Given the description of an element on the screen output the (x, y) to click on. 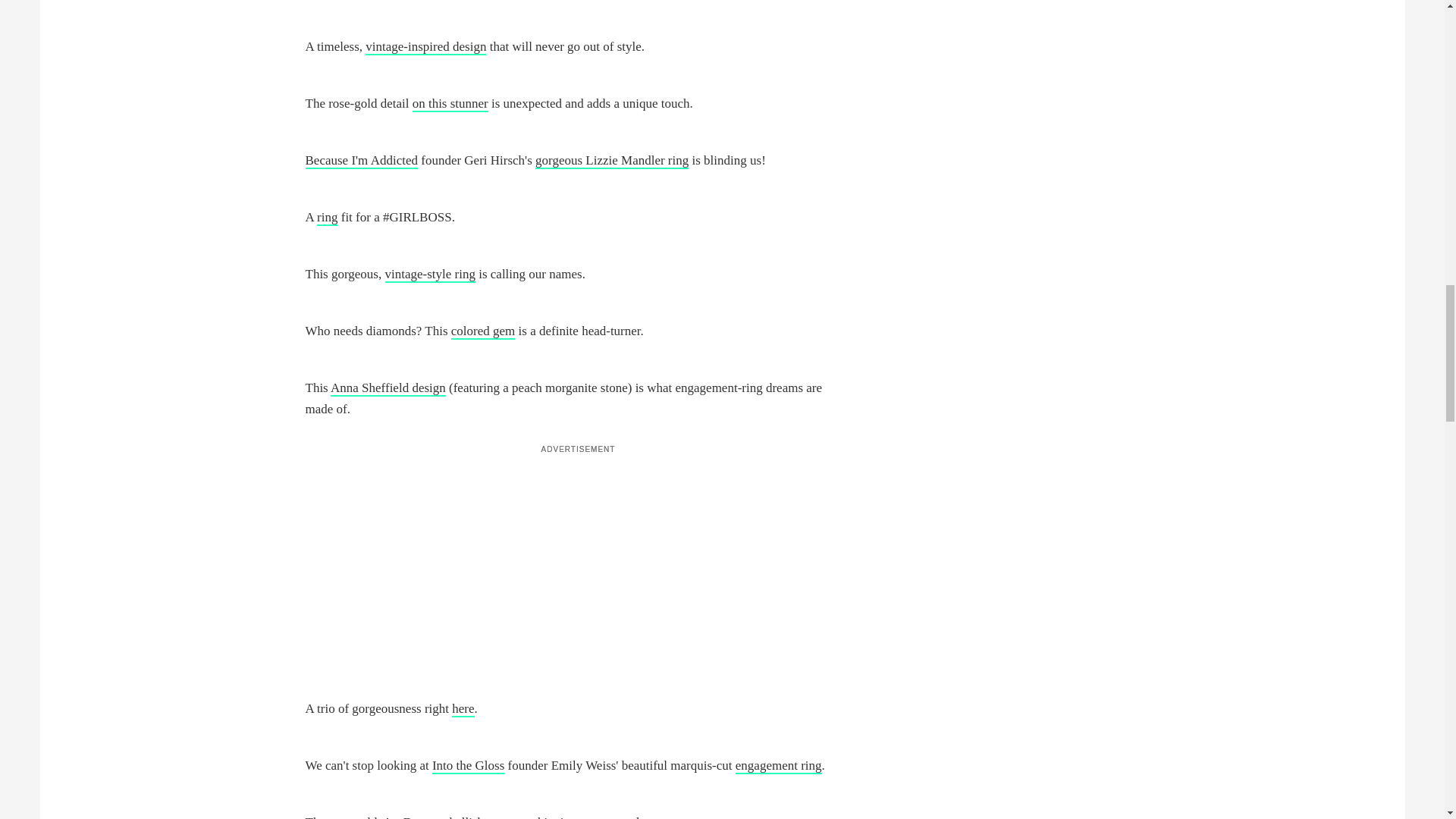
vintage-inspired design (425, 47)
Because I'm Addicted (360, 160)
on this stunner (449, 104)
